Given the description of an element on the screen output the (x, y) to click on. 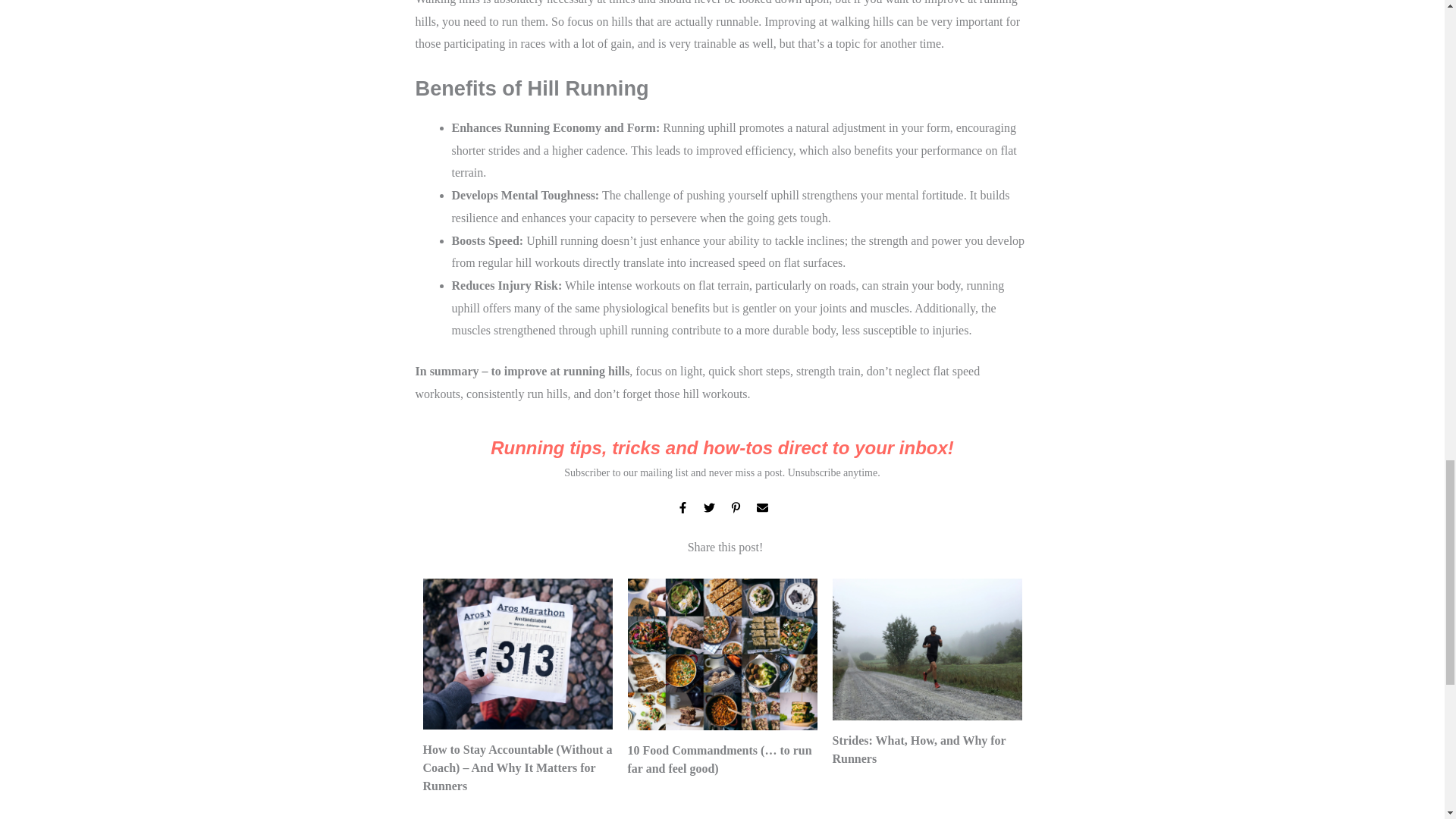
Strides: What, How, and Why for Runners (919, 748)
